Given the description of an element on the screen output the (x, y) to click on. 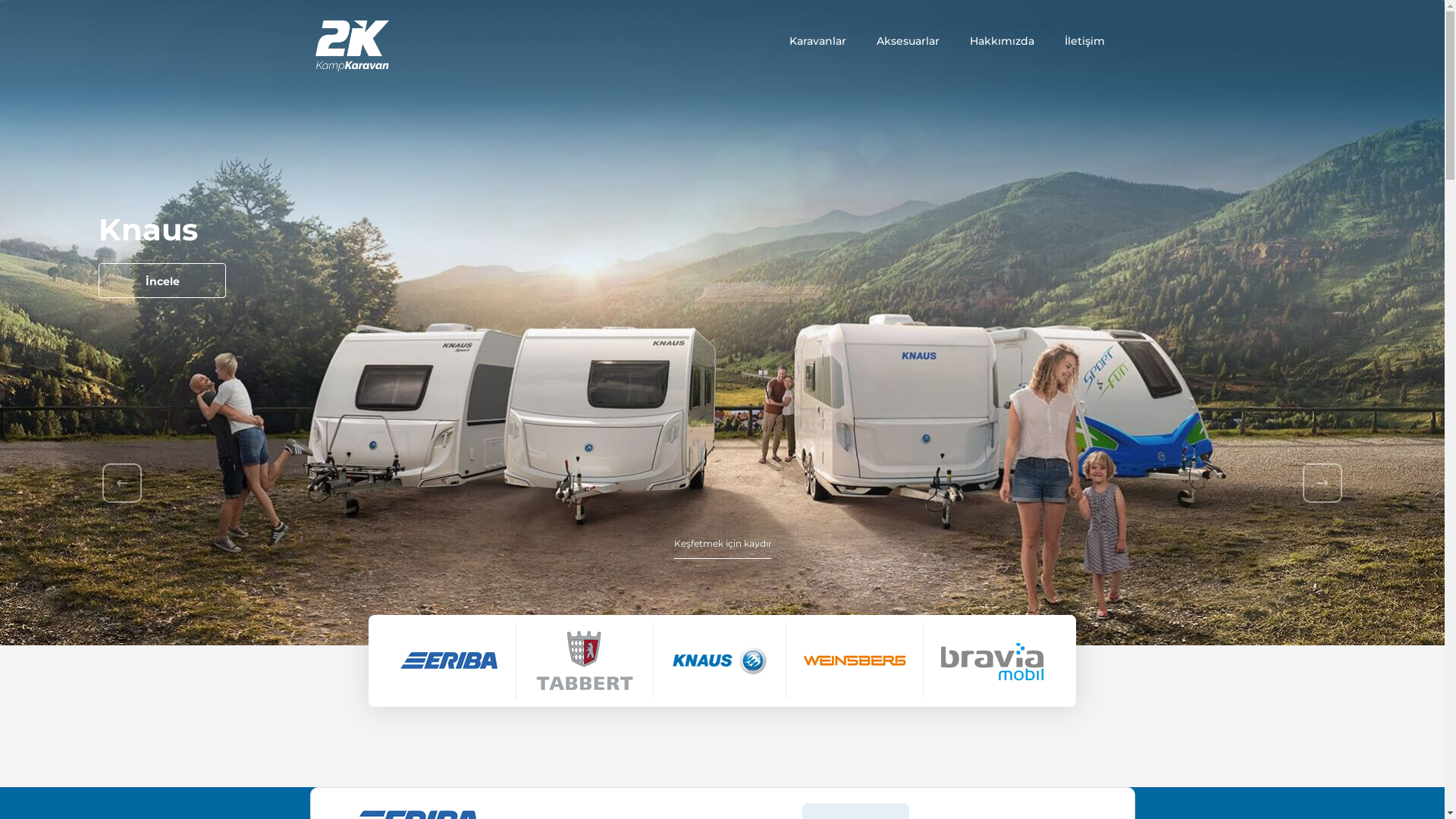
Aksesuarlar Element type: text (907, 40)
Karavanlar Element type: text (816, 40)
